Given the description of an element on the screen output the (x, y) to click on. 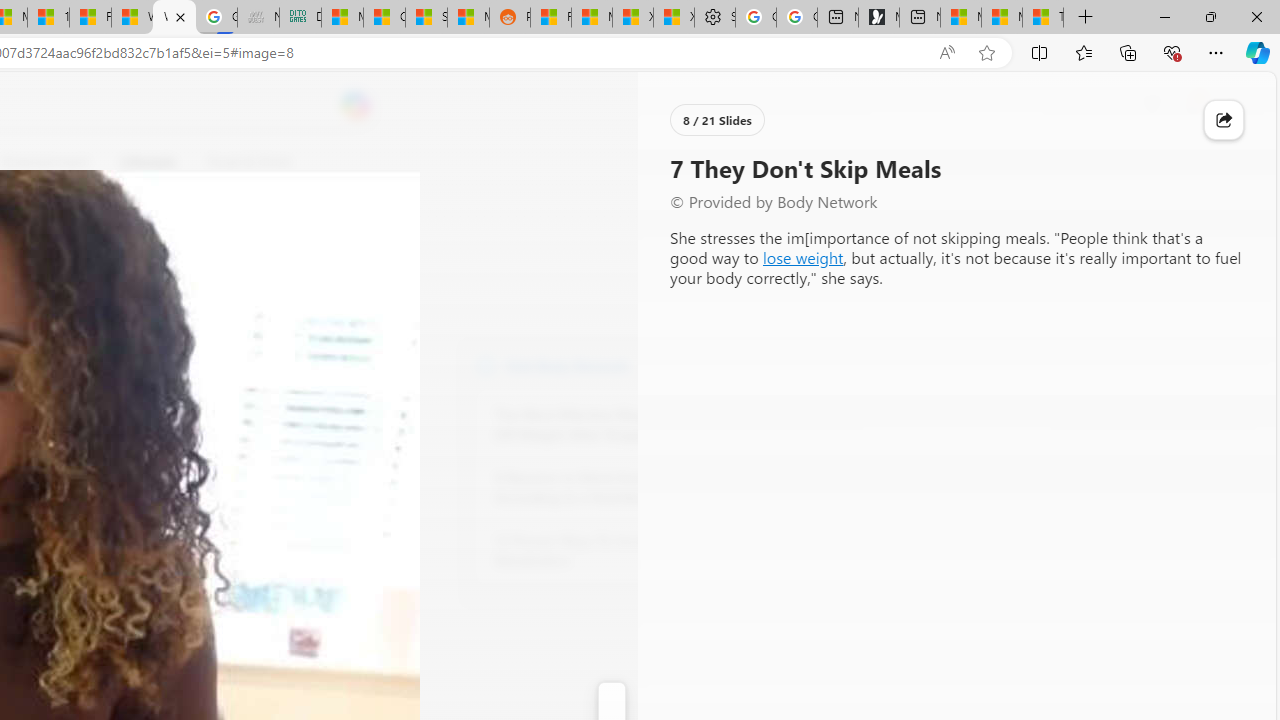
R******* | Trusted Community Engagement and Contributions (550, 17)
Body Network (486, 364)
MSN (468, 17)
Fitness - MSN (90, 17)
Stocks - MSN (425, 17)
8 Reasons to Drink Kombucha, According to a Nutritionist (603, 488)
